Given the description of an element on the screen output the (x, y) to click on. 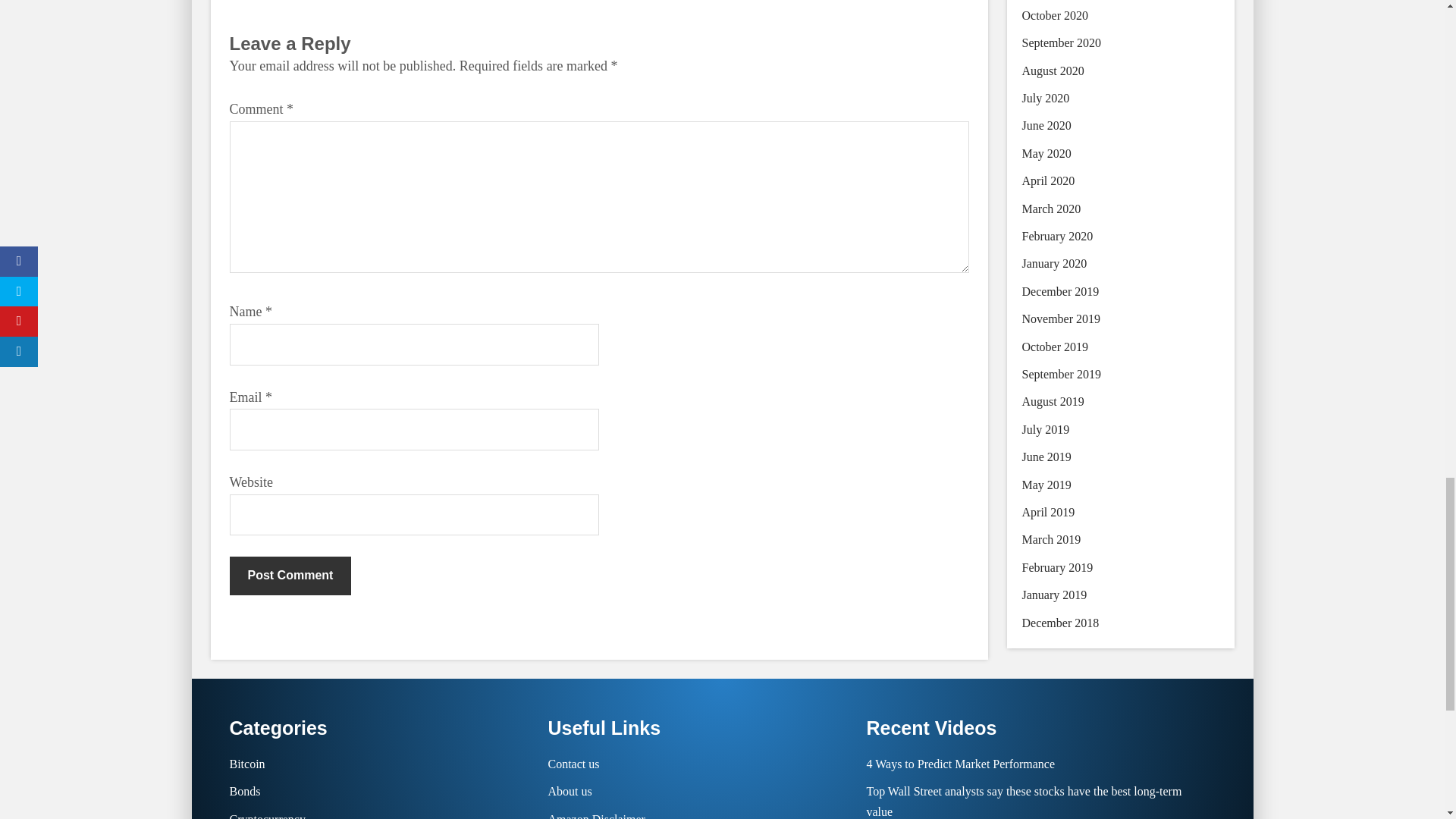
Post Comment (289, 575)
